Given the description of an element on the screen output the (x, y) to click on. 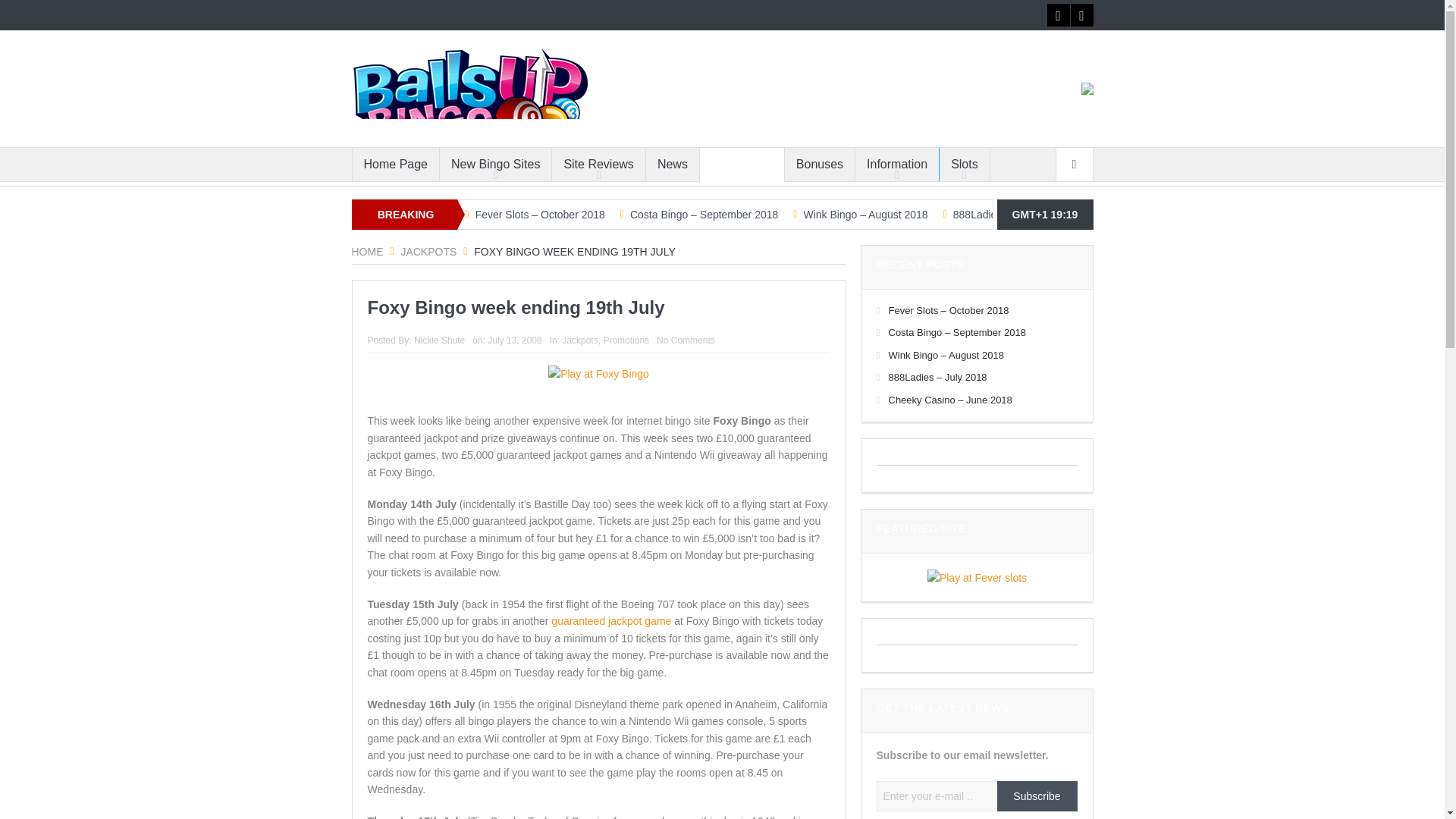
Jackpots (428, 251)
Bonuses (819, 164)
Guaranteed Jackpots (611, 621)
Site Reviews (598, 164)
View all posts in Jackpots (579, 339)
Promotions (742, 164)
View all posts in Promotions (625, 339)
Slots (964, 164)
Information (897, 164)
New Bingo Sites (495, 164)
News (672, 164)
Home Page (395, 164)
